Given the description of an element on the screen output the (x, y) to click on. 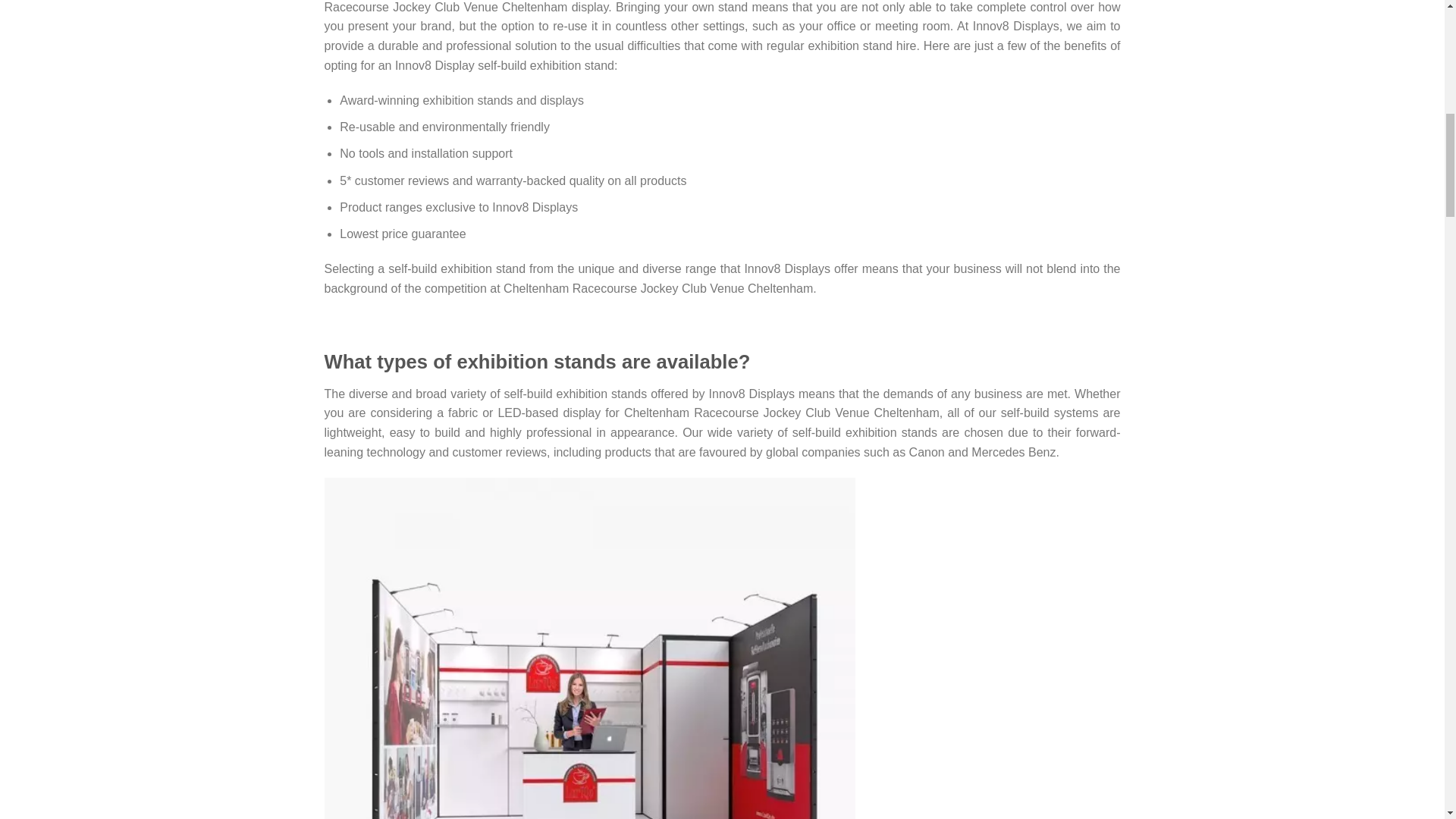
QuickStand Kit 6 Modular Exhibition Stand 4x3 (590, 741)
